Given the description of an element on the screen output the (x, y) to click on. 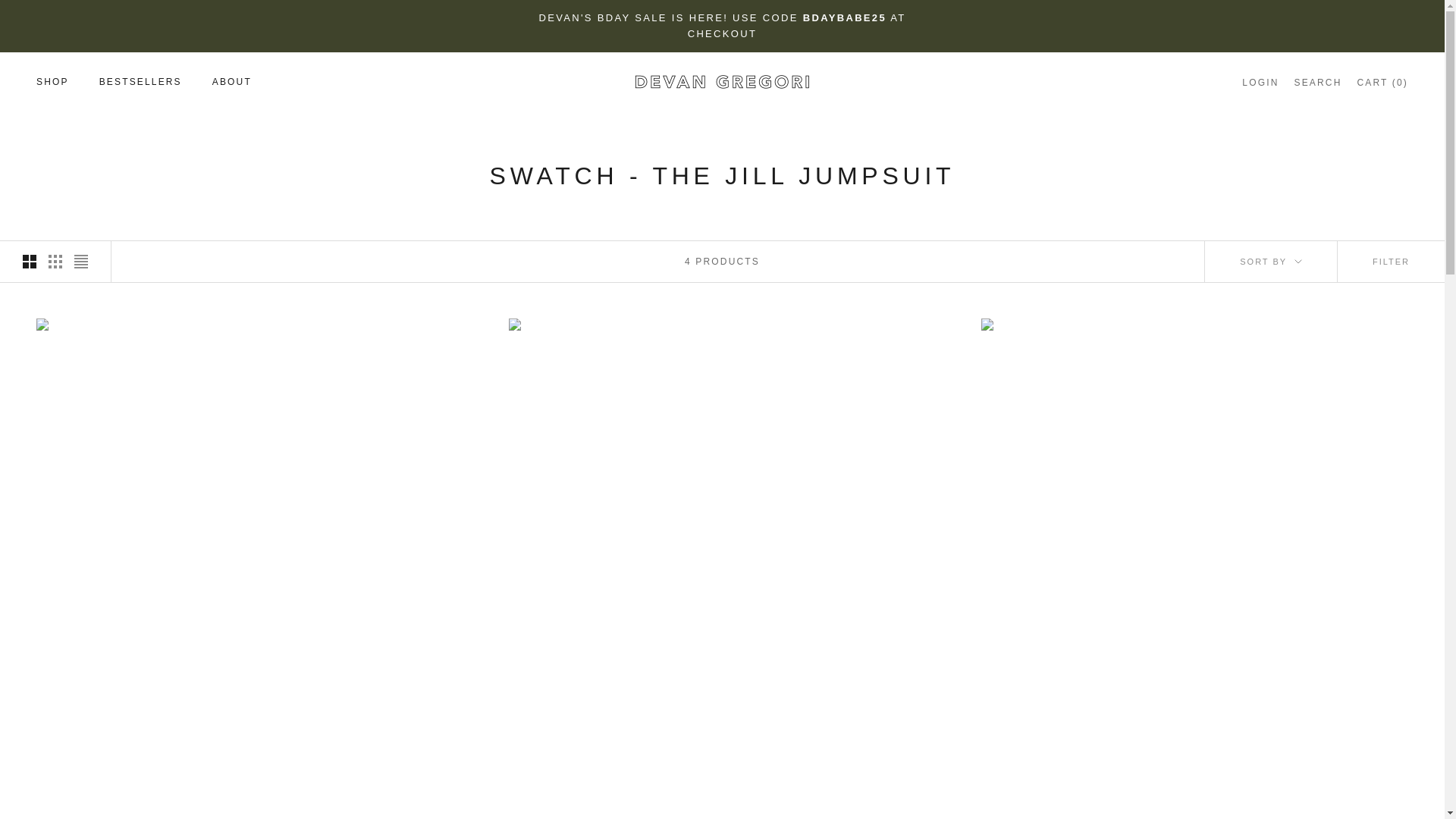
BESTSELLERS (140, 81)
DEVAN GREGORI (721, 81)
